Given the description of an element on the screen output the (x, y) to click on. 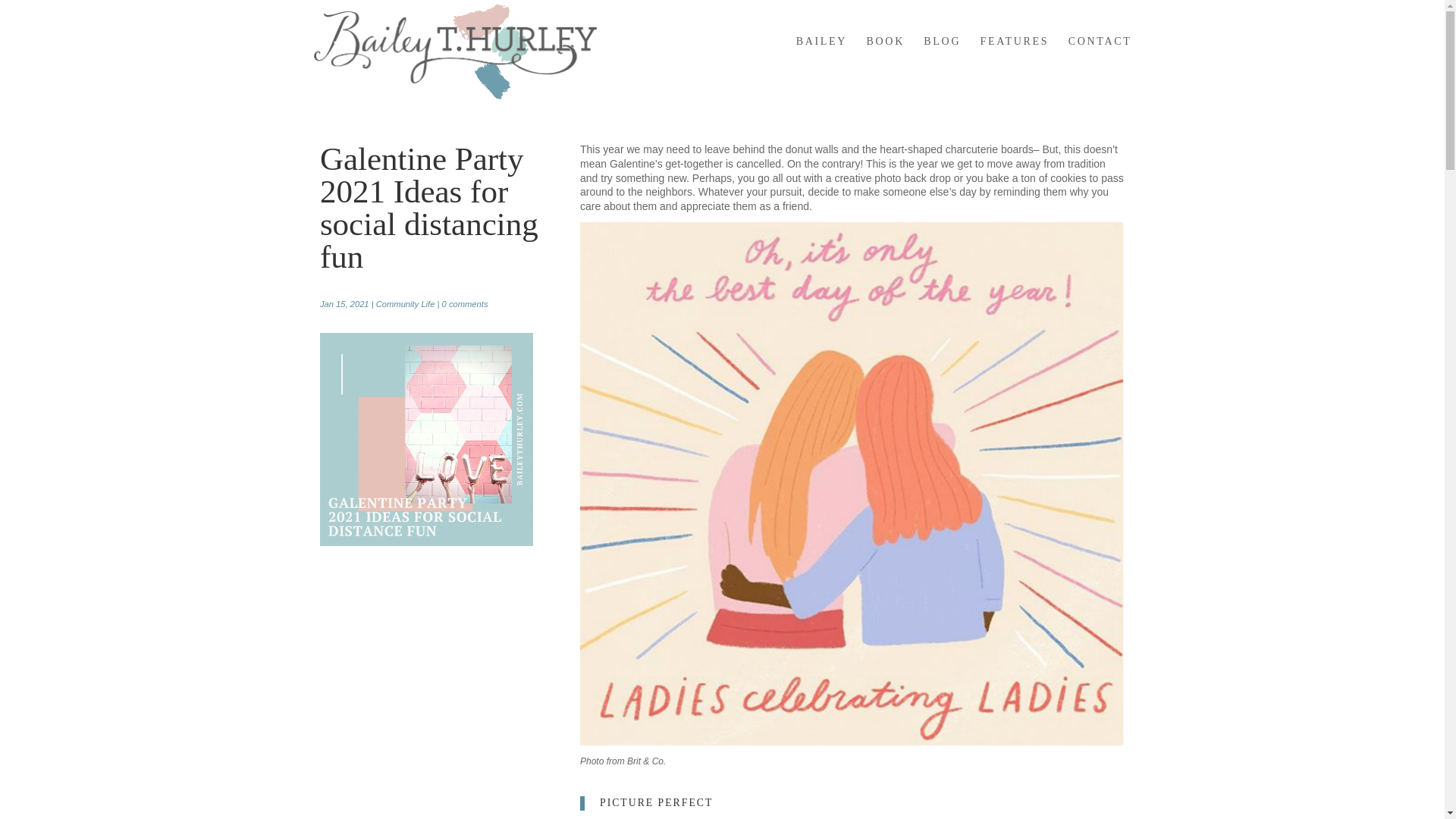
FEATURES (1014, 54)
BAILEY (821, 54)
CONTACT (1100, 54)
Community Life (405, 303)
BLOG (941, 54)
0 comments (464, 303)
BOOK (885, 54)
